Given the description of an element on the screen output the (x, y) to click on. 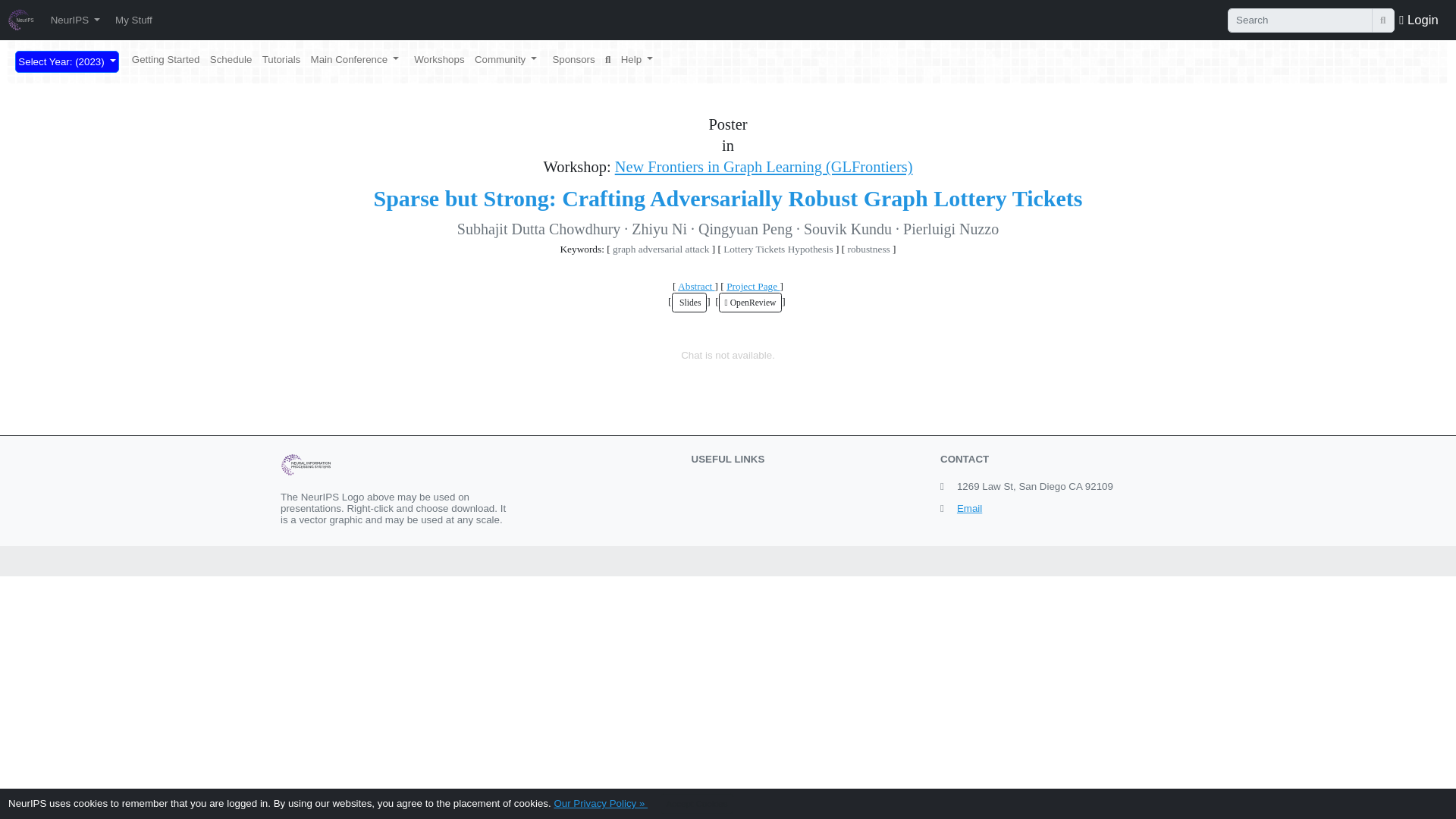
My Stuff (133, 20)
Slides (689, 302)
Login (1418, 19)
NeurIPS (74, 20)
OpenReview (750, 302)
